Given the description of an element on the screen output the (x, y) to click on. 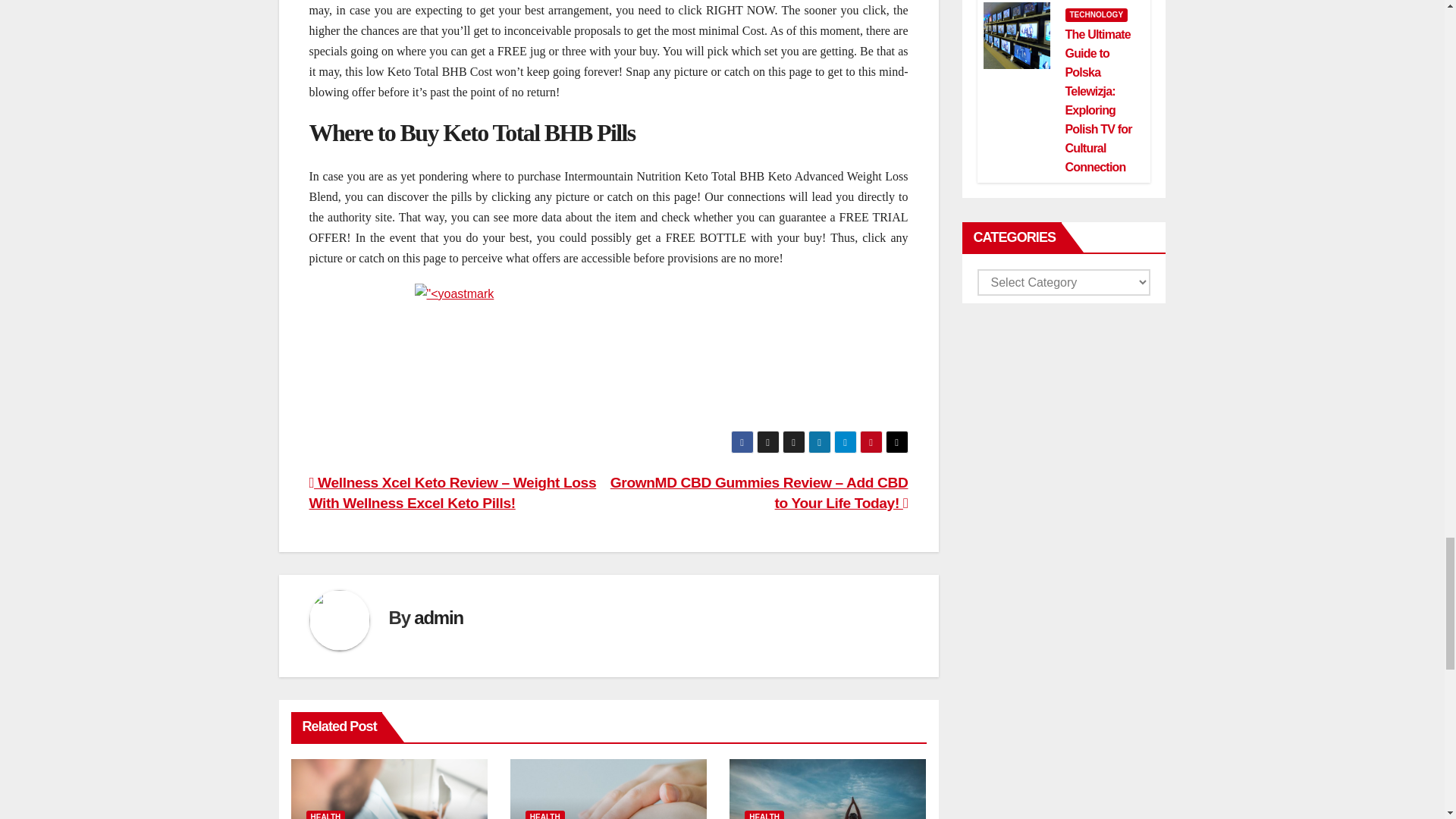
HEALTH (325, 814)
admin (438, 617)
